Given the description of an element on the screen output the (x, y) to click on. 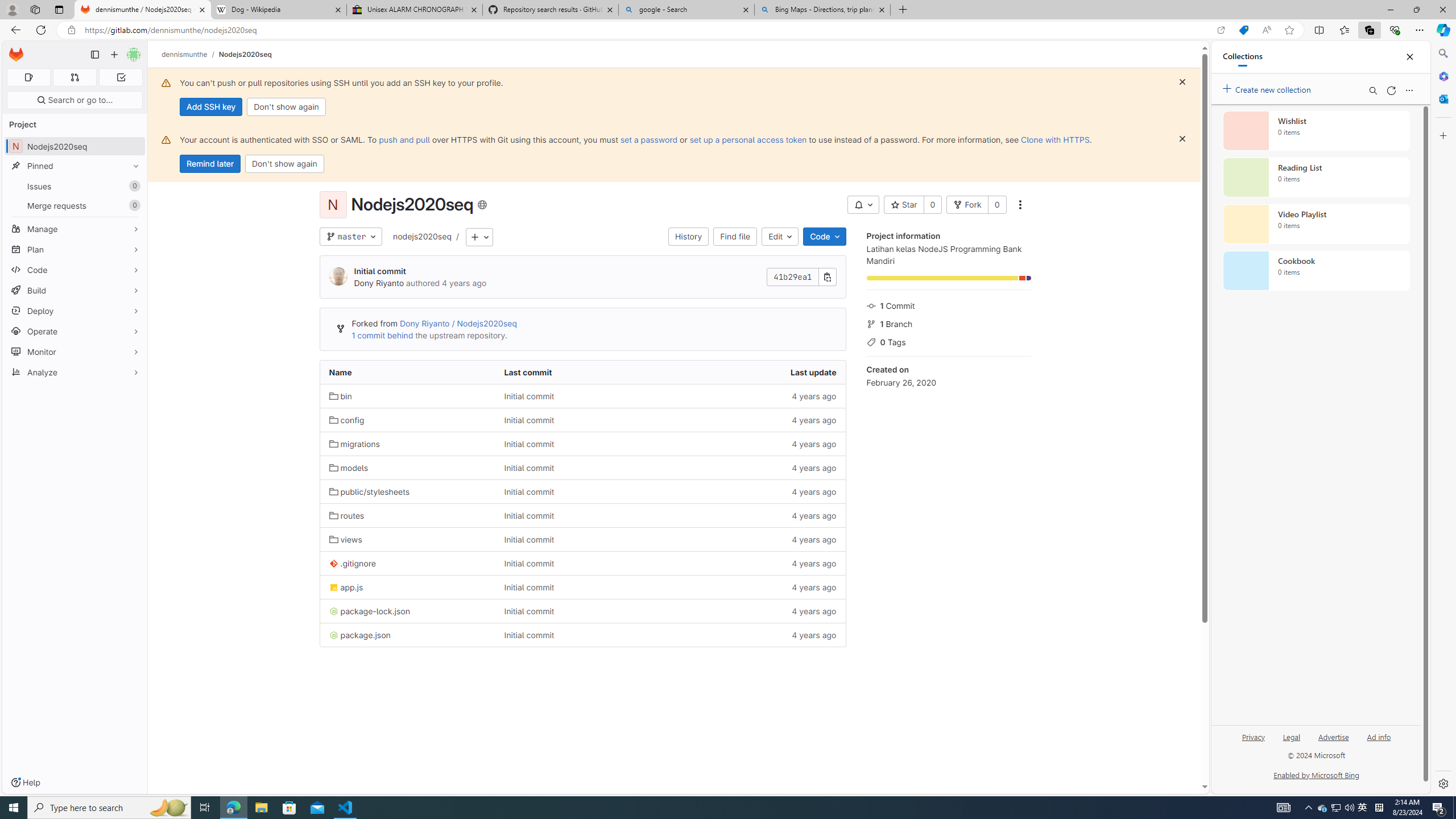
Don't show again (284, 163)
New Tab (903, 9)
package.json (359, 634)
Edit (780, 236)
Legal (1291, 736)
Plan (74, 248)
Privacy (1253, 736)
Dismiss (1181, 138)
Issues0 (74, 185)
bin (407, 396)
Tab actions menu (58, 9)
Settings and more (Alt+F) (1419, 29)
Merge requests 0 (74, 76)
dennismunthe/ (189, 53)
